Given the description of an element on the screen output the (x, y) to click on. 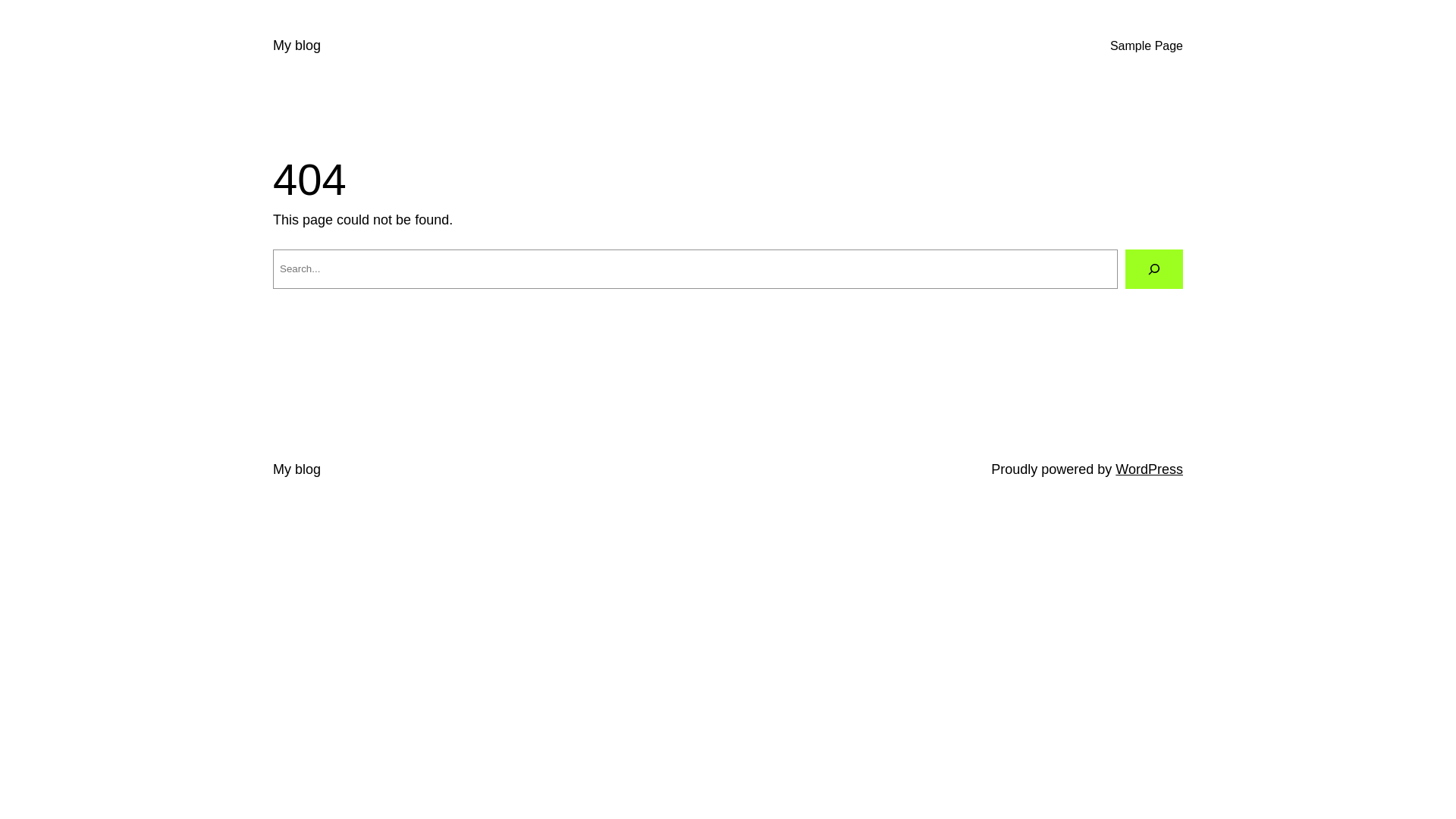
My blog Element type: text (296, 45)
My blog Element type: text (296, 468)
WordPress Element type: text (1149, 468)
Sample Page Element type: text (1146, 46)
